Given the description of an element on the screen output the (x, y) to click on. 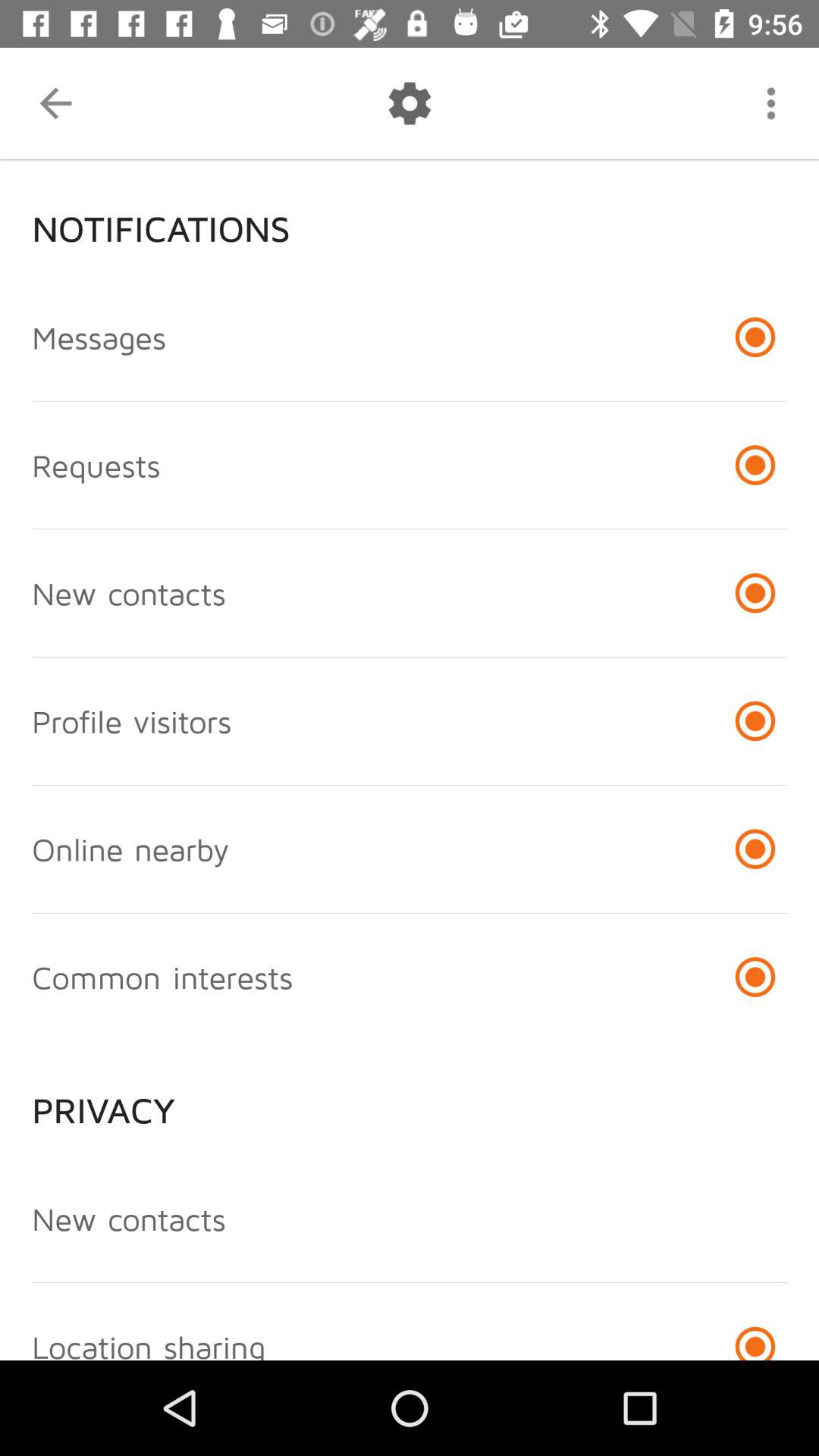
open the icon above notifications item (771, 103)
